Given the description of an element on the screen output the (x, y) to click on. 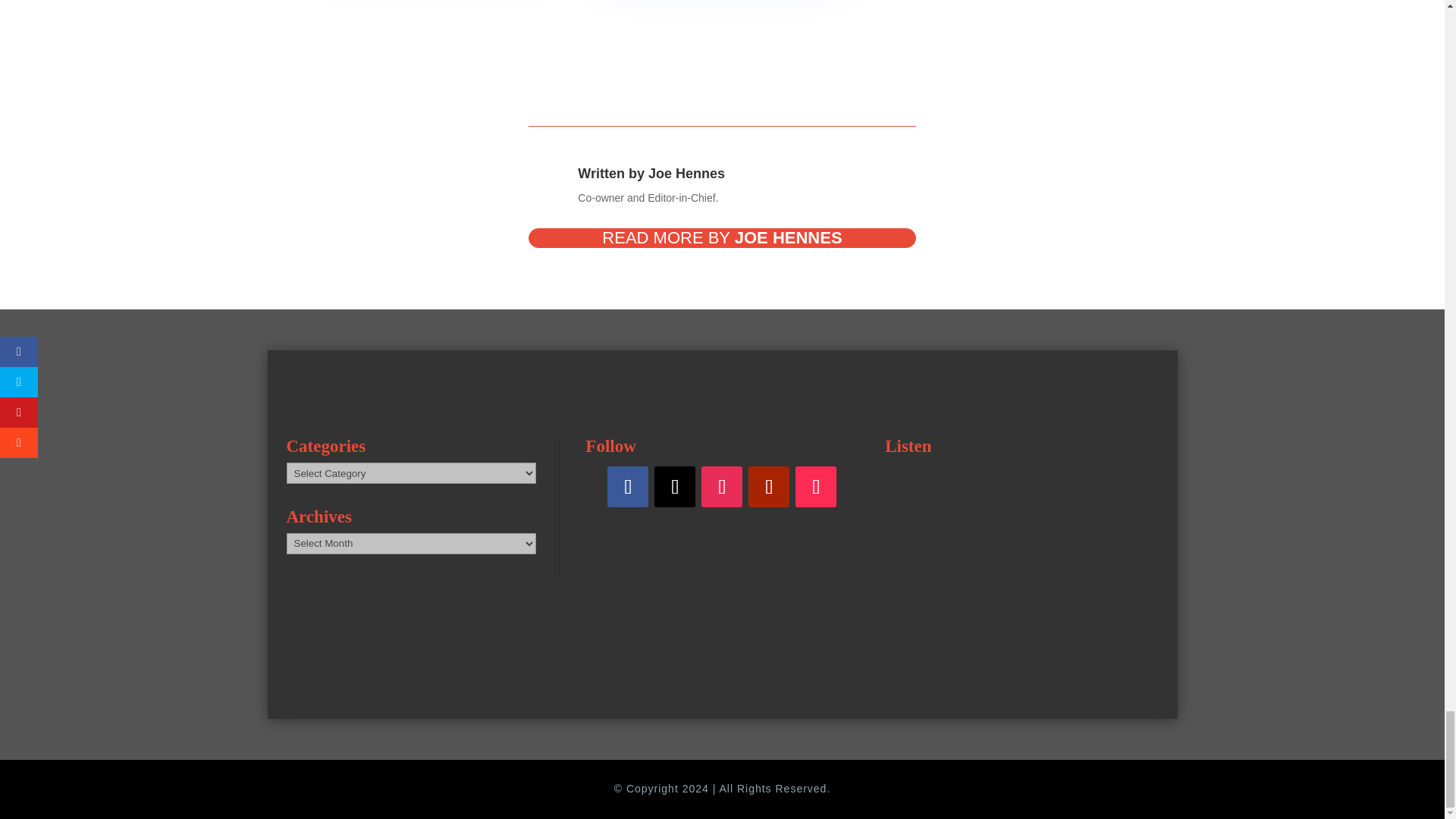
Follow on Youtube (768, 486)
Follow on X (674, 486)
Follow on TikTok (814, 486)
Follow on Instagram (721, 486)
Follow on Facebook (627, 486)
